Given the description of an element on the screen output the (x, y) to click on. 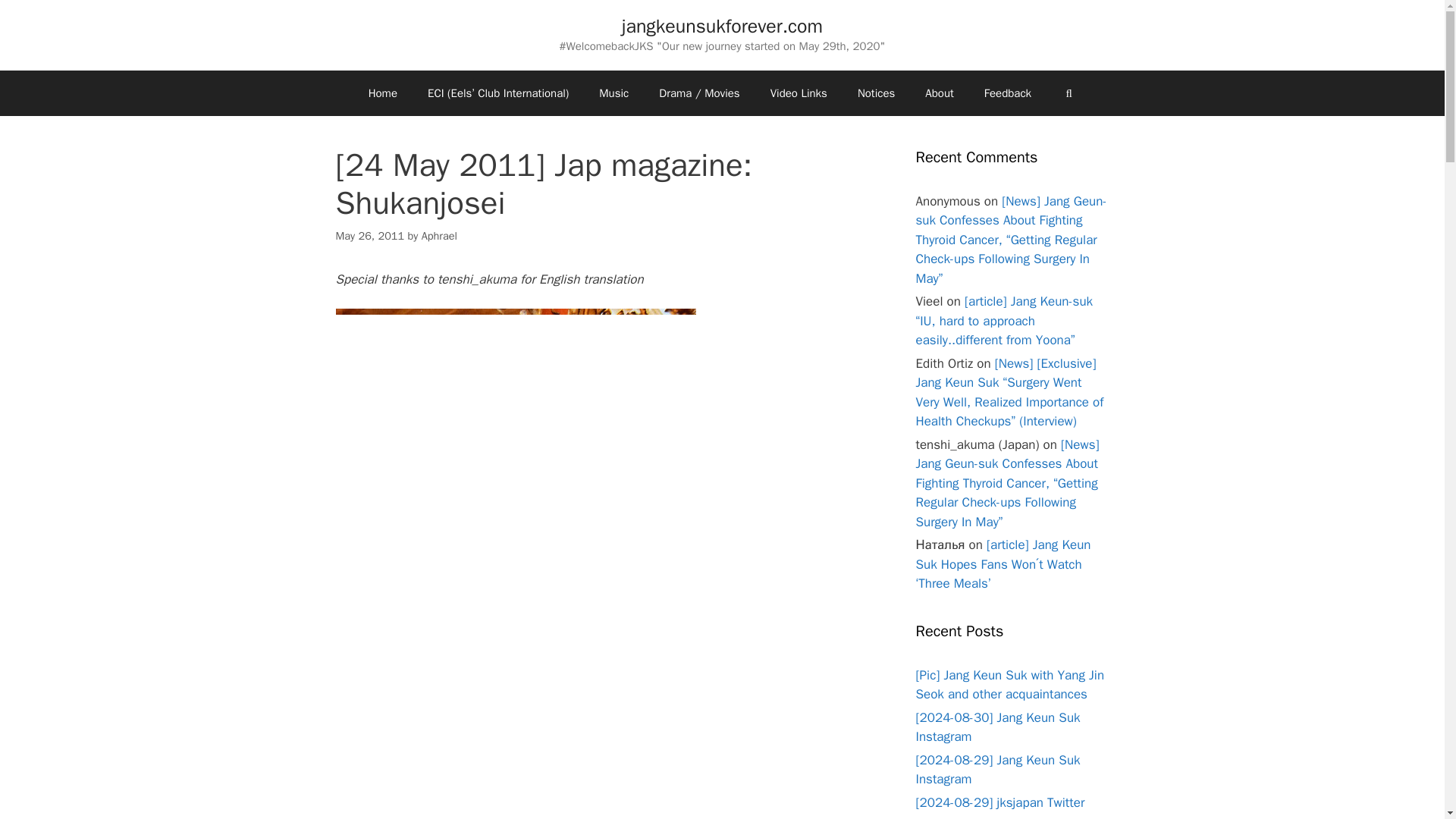
06 (514, 789)
Home (382, 92)
About (939, 92)
View all posts by Aphrael (439, 235)
Music (613, 92)
Feedback (1007, 92)
Aphrael (439, 235)
Notices (876, 92)
Video Links (799, 92)
Home (382, 92)
